Given the description of an element on the screen output the (x, y) to click on. 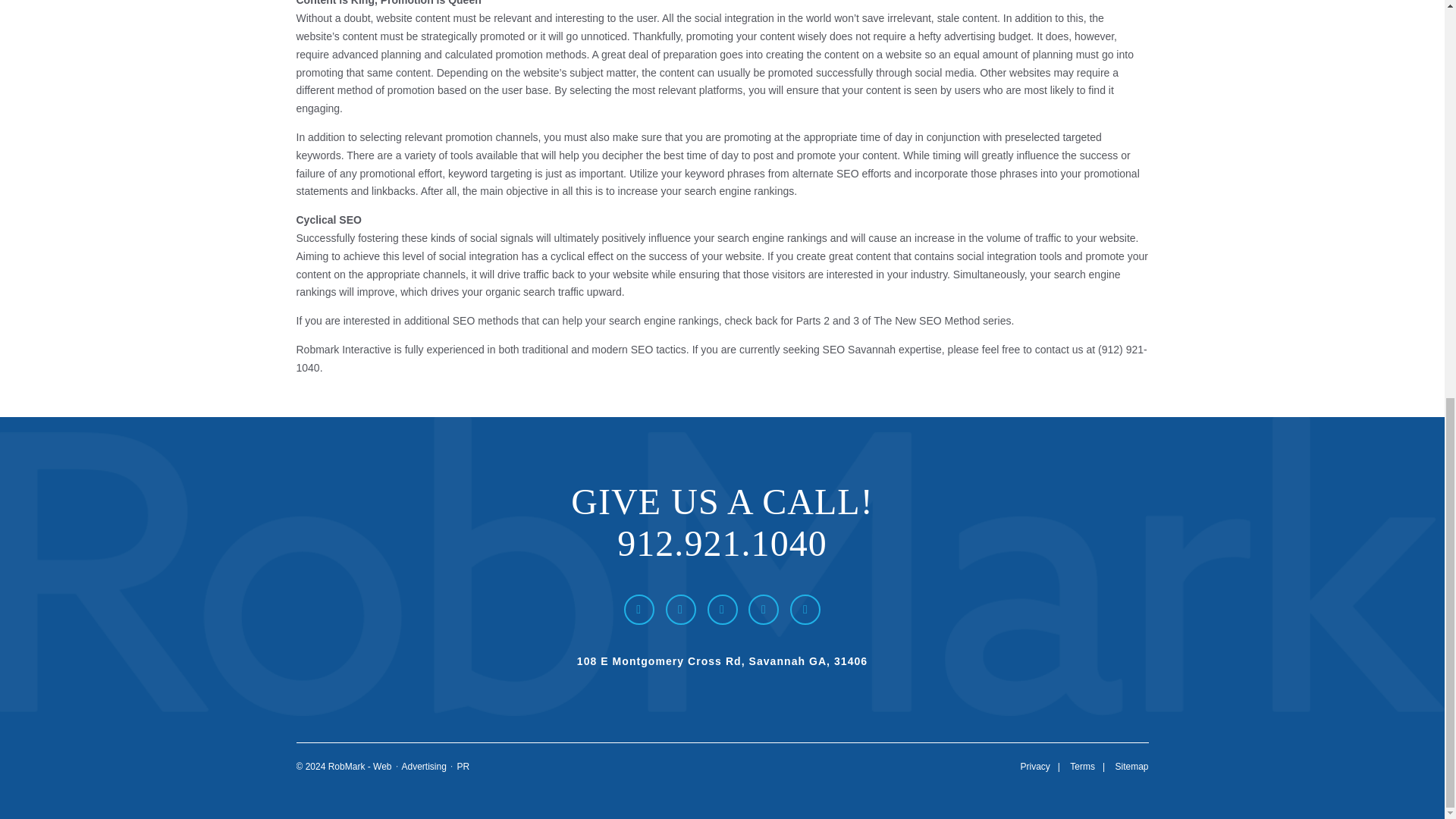
Terms (1082, 766)
912.921.1040 (722, 543)
Privacy (1034, 766)
Sitemap (1131, 766)
